Given the description of an element on the screen output the (x, y) to click on. 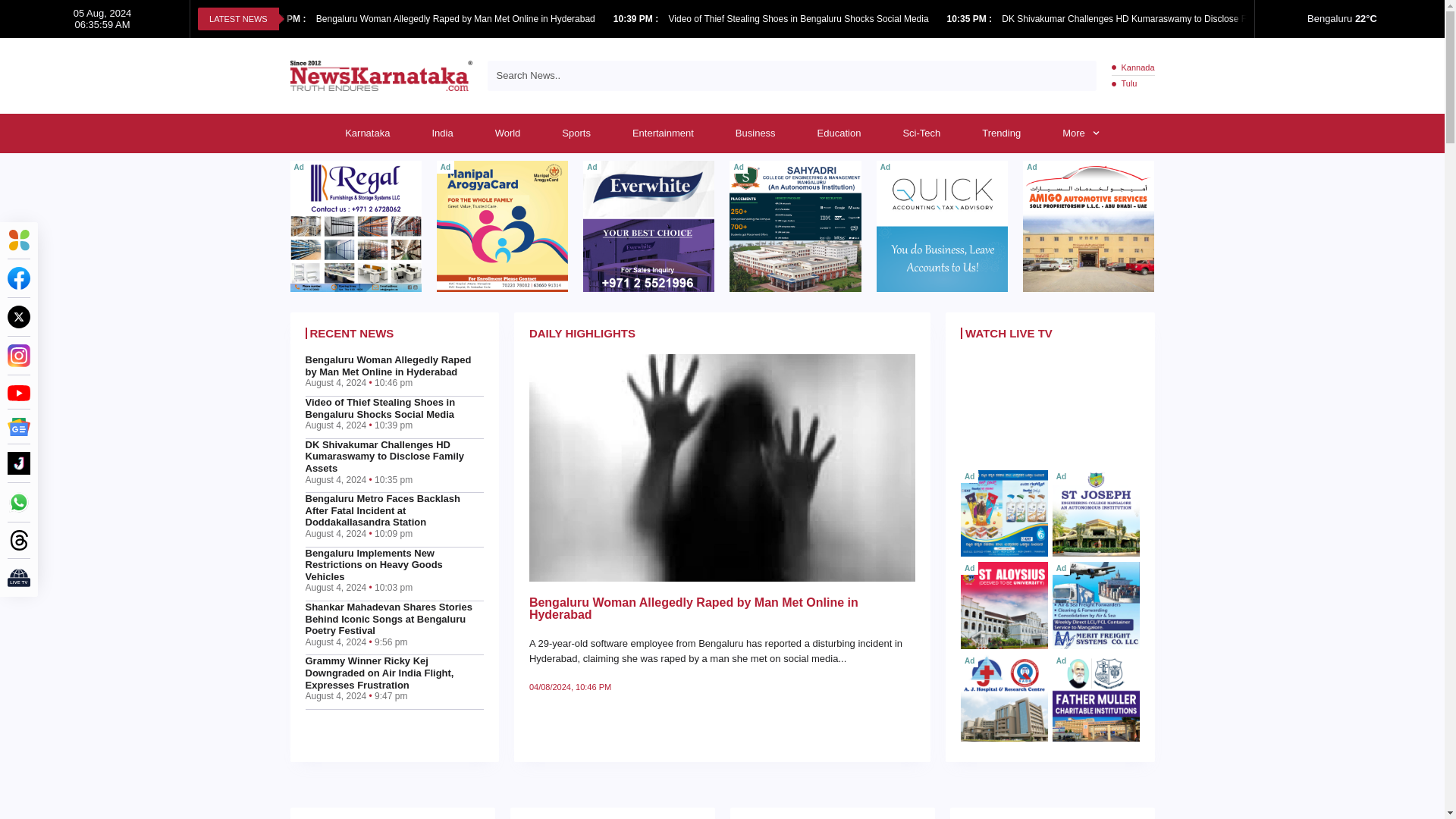
Published on: August 4, 2024 10:39 pm (636, 18)
Published on: August 4, 2024 10:35 pm (970, 18)
Published on: August 4, 2024 10:46 pm (284, 18)
